Given the description of an element on the screen output the (x, y) to click on. 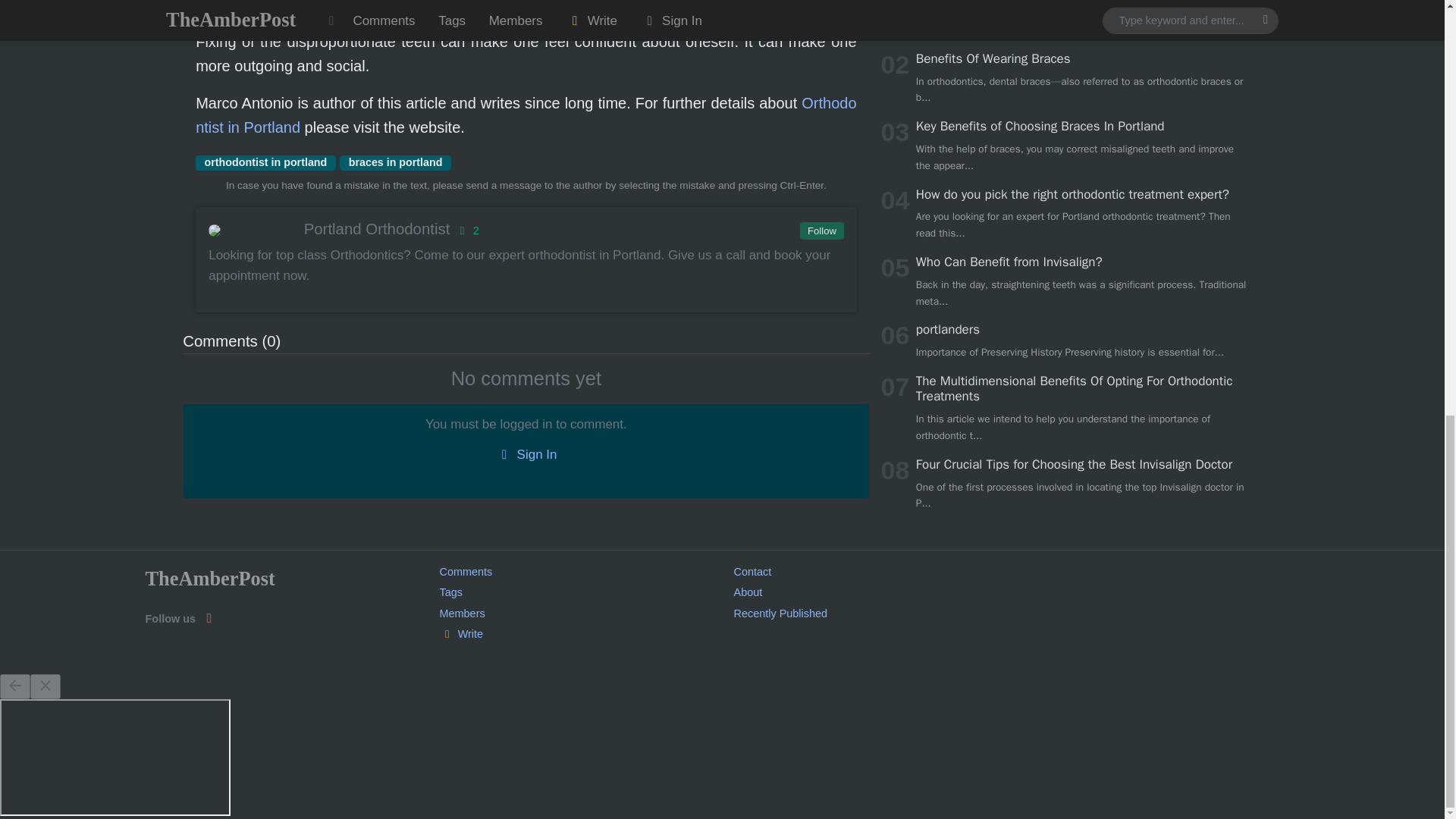
Follow (821, 230)
orthodontist in portland (265, 162)
Sign In (525, 454)
braces in portland (395, 162)
Portland Orthodontist 2 (525, 229)
Rating (466, 230)
Orthodontist in Portland (525, 115)
orthodontist in portland (265, 162)
Comments (466, 571)
braces in portland (395, 162)
